Given the description of an element on the screen output the (x, y) to click on. 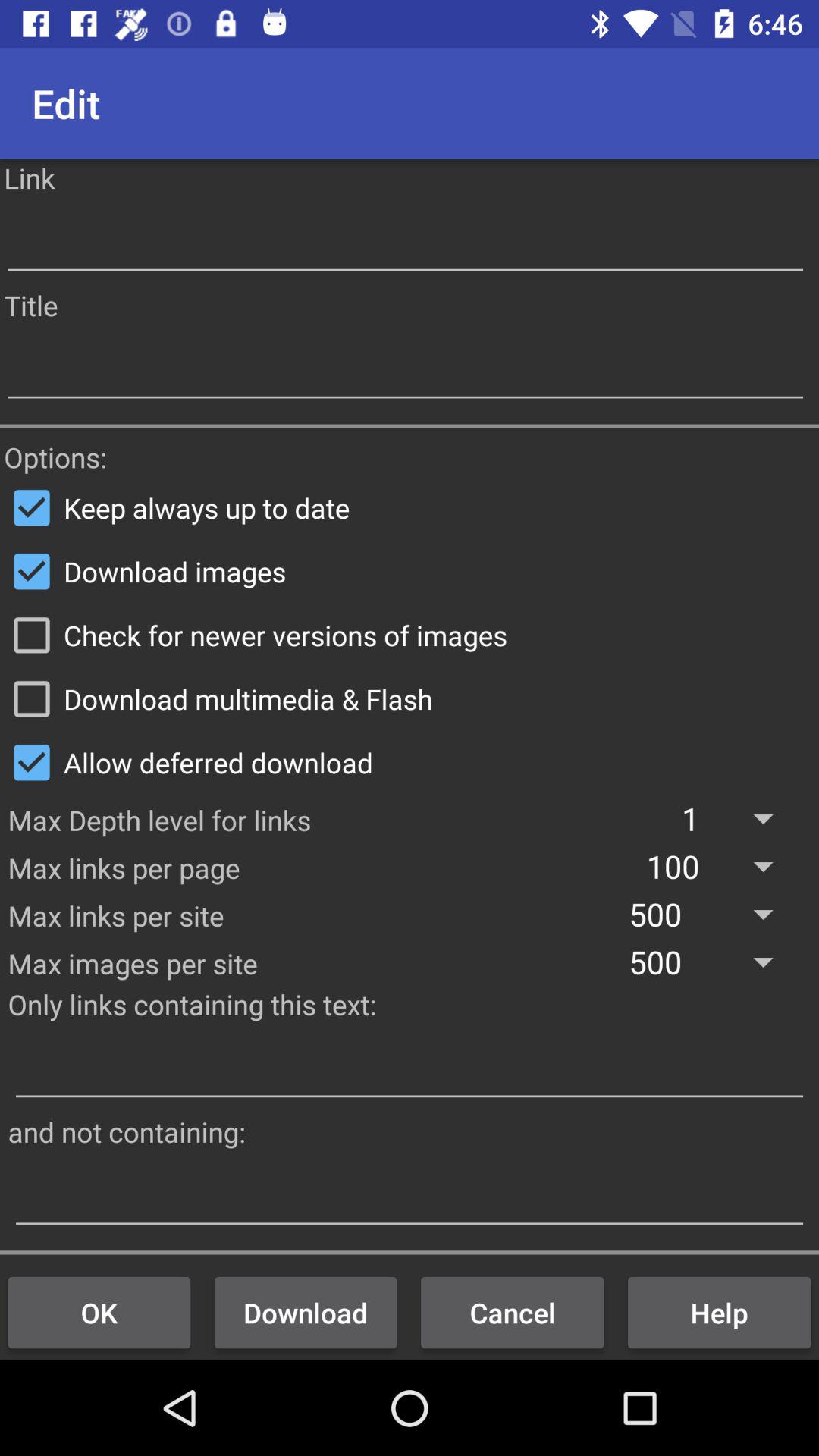
tap the download images item (409, 571)
